Given the description of an element on the screen output the (x, y) to click on. 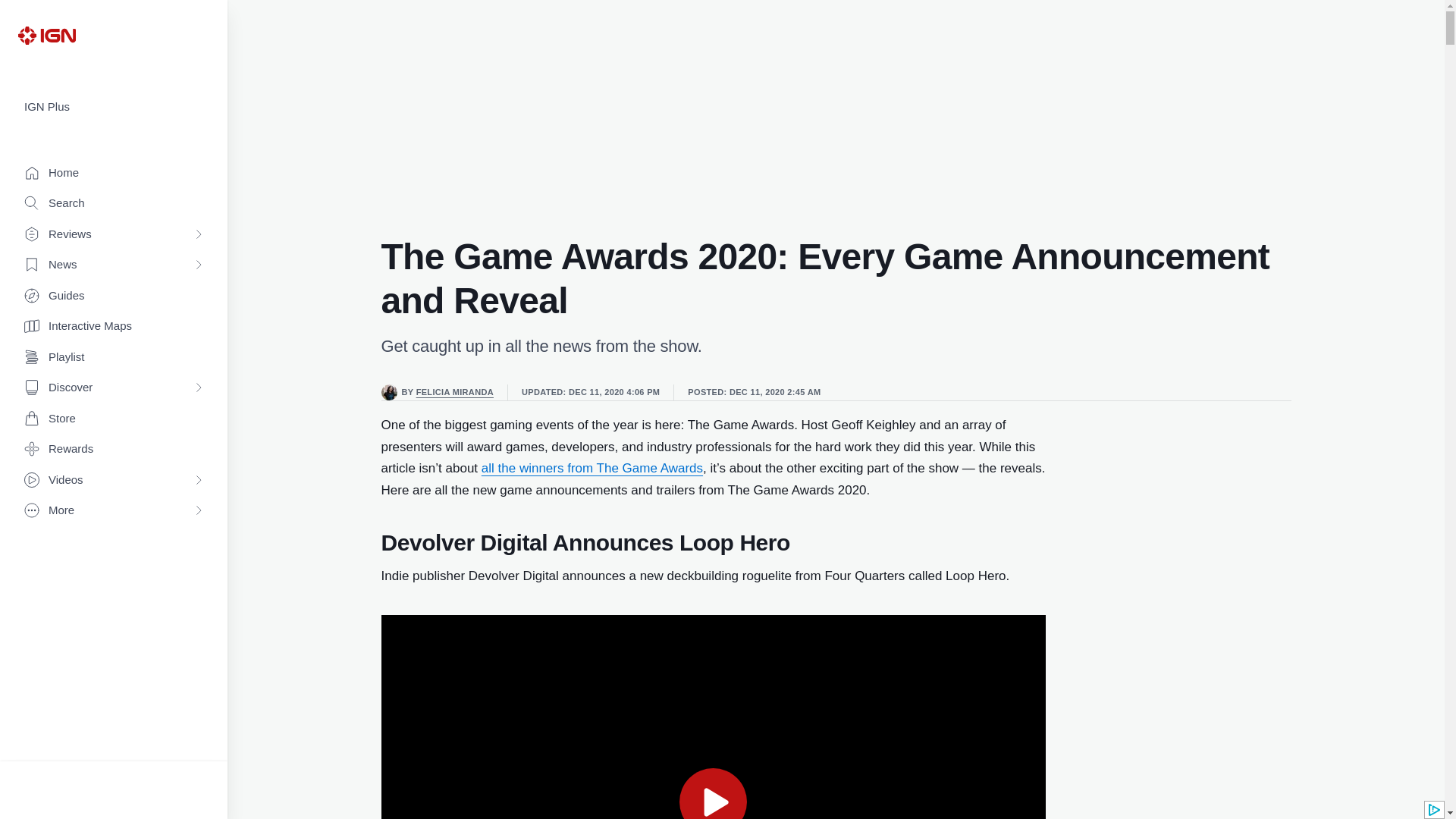
IGN Plus (113, 107)
Search (113, 203)
Reviews (113, 234)
IGN Logo (46, 34)
Playlist (113, 357)
Rewards (113, 449)
Store (113, 418)
Playlist (113, 357)
Guides (113, 295)
Rewards (113, 449)
IGN (46, 35)
Reviews (113, 234)
IGN Logo (46, 35)
Videos (113, 480)
News (113, 265)
